Given the description of an element on the screen output the (x, y) to click on. 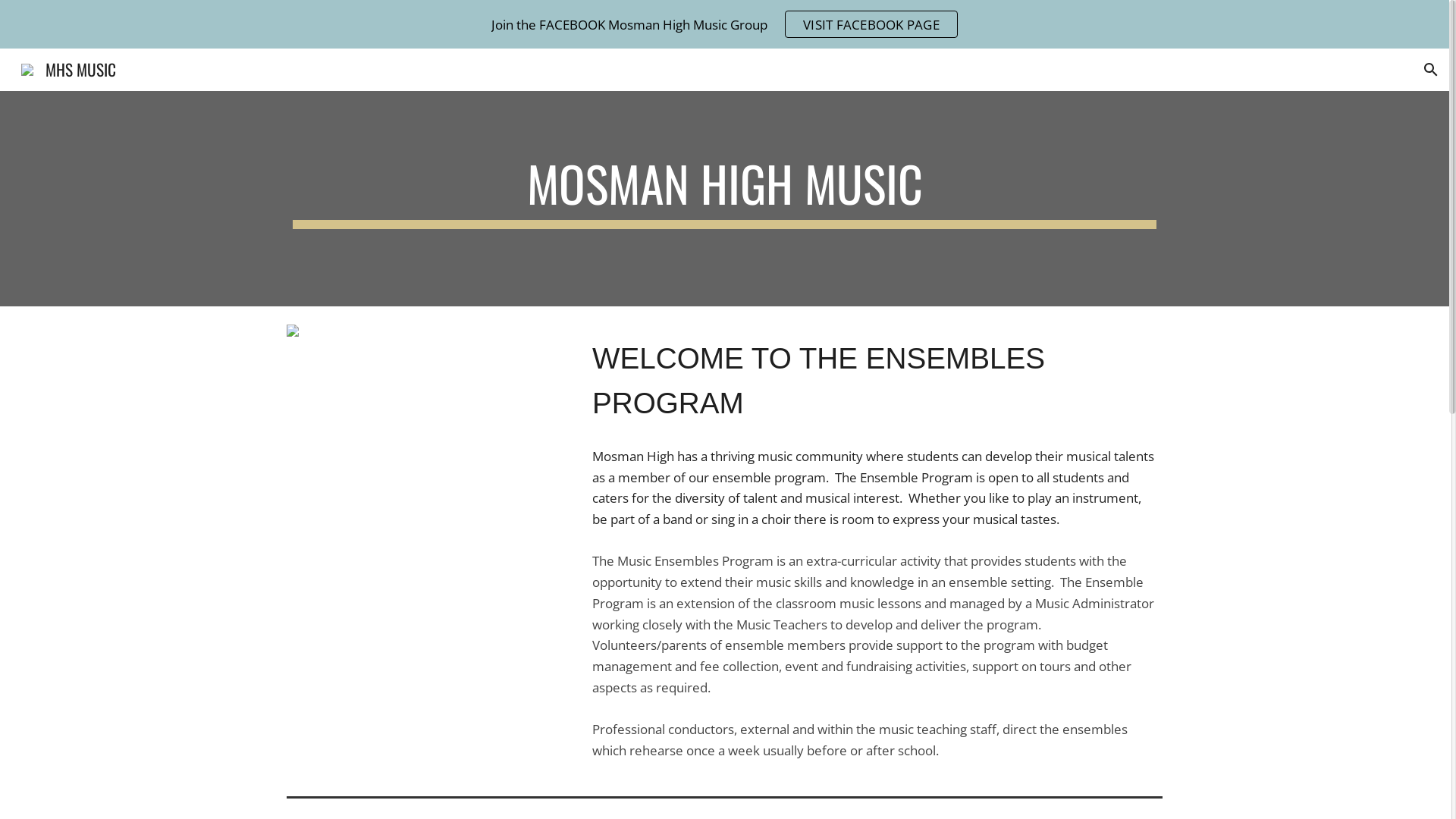
VISIT FACEBOOK PAGE Element type: text (871, 24)
MHS MUSIC Element type: text (68, 66)
